Given the description of an element on the screen output the (x, y) to click on. 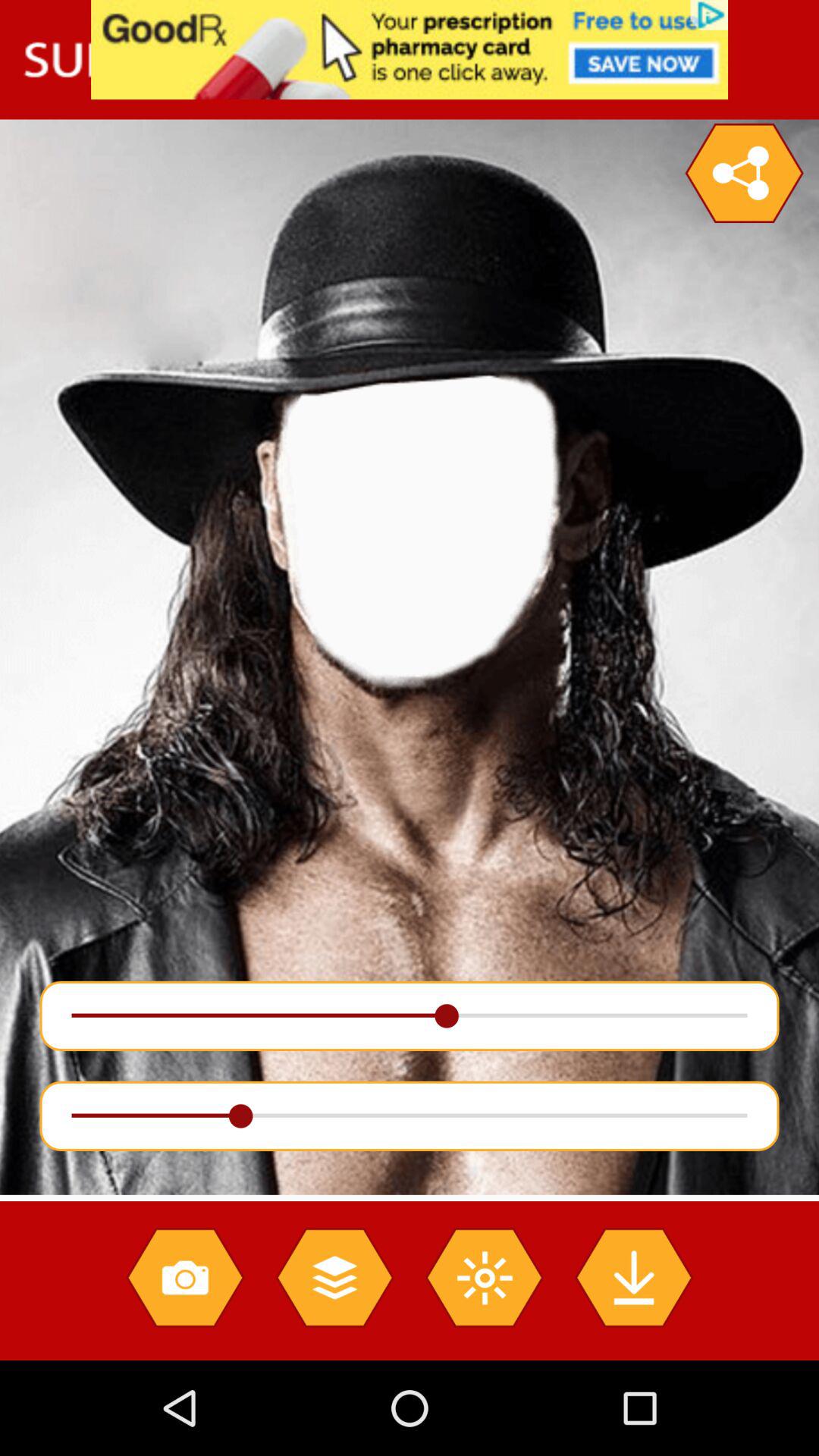
share button (744, 172)
